Given the description of an element on the screen output the (x, y) to click on. 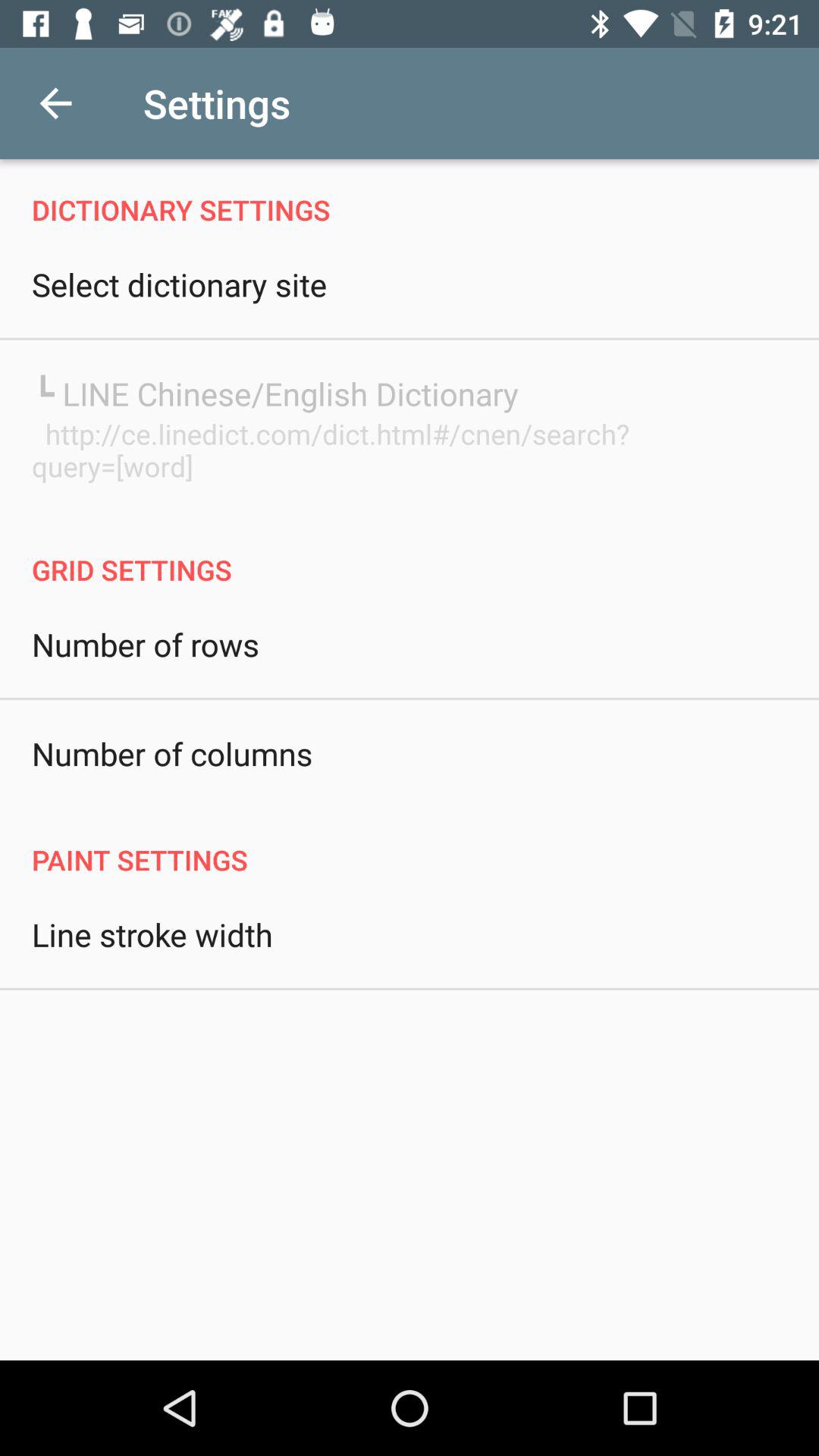
turn on the item below dictionary settings (179, 283)
